Given the description of an element on the screen output the (x, y) to click on. 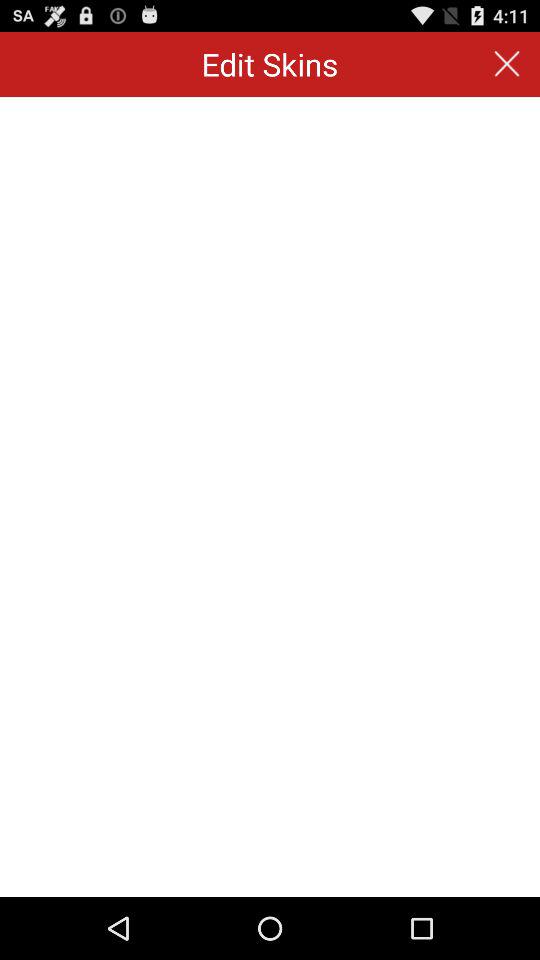
close page (506, 64)
